Given the description of an element on the screen output the (x, y) to click on. 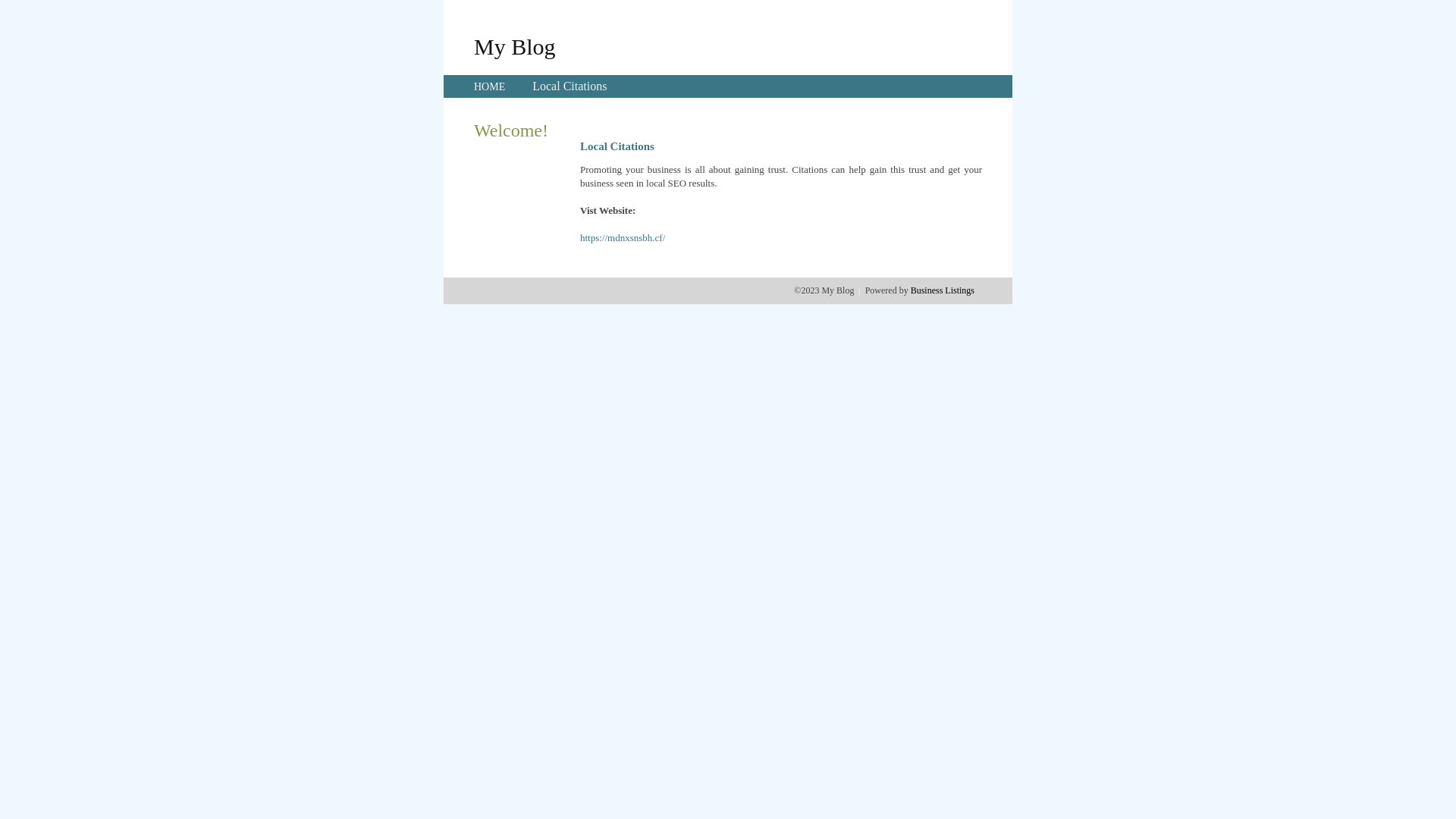
My Blog Element type: text (514, 46)
https://mdnxsnsbh.cf/ Element type: text (622, 237)
Local Citations Element type: text (569, 85)
HOME Element type: text (489, 86)
Business Listings Element type: text (942, 290)
